Given the description of an element on the screen output the (x, y) to click on. 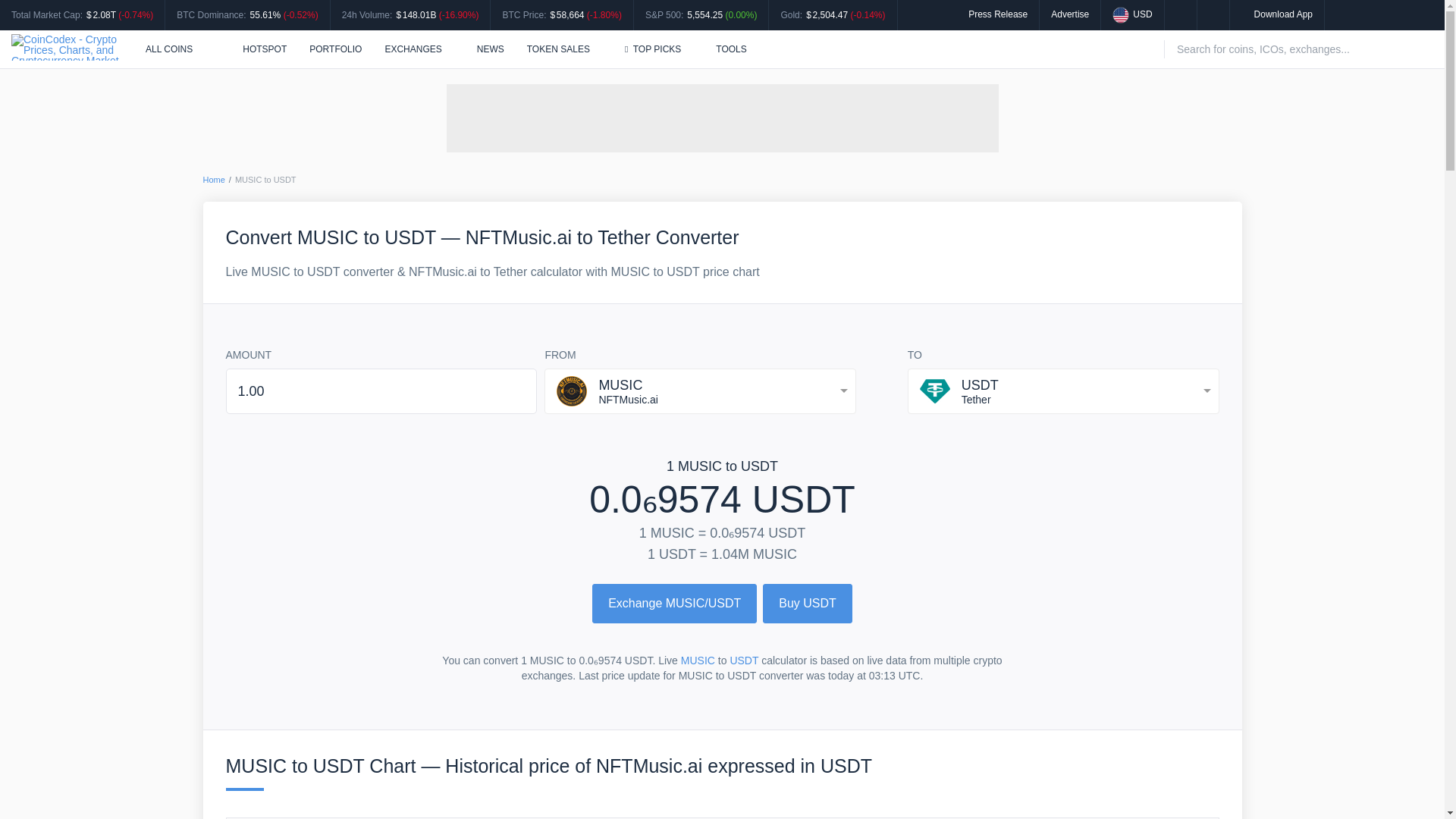
PORTFOLIO (335, 48)
USDT (743, 660)
Press Release (997, 14)
HOTSPOT (256, 48)
1.00 (381, 391)
Home (214, 179)
NEWS (490, 48)
Advertise (1070, 14)
Buy USDT (806, 603)
MUSIC (697, 660)
